Given the description of an element on the screen output the (x, y) to click on. 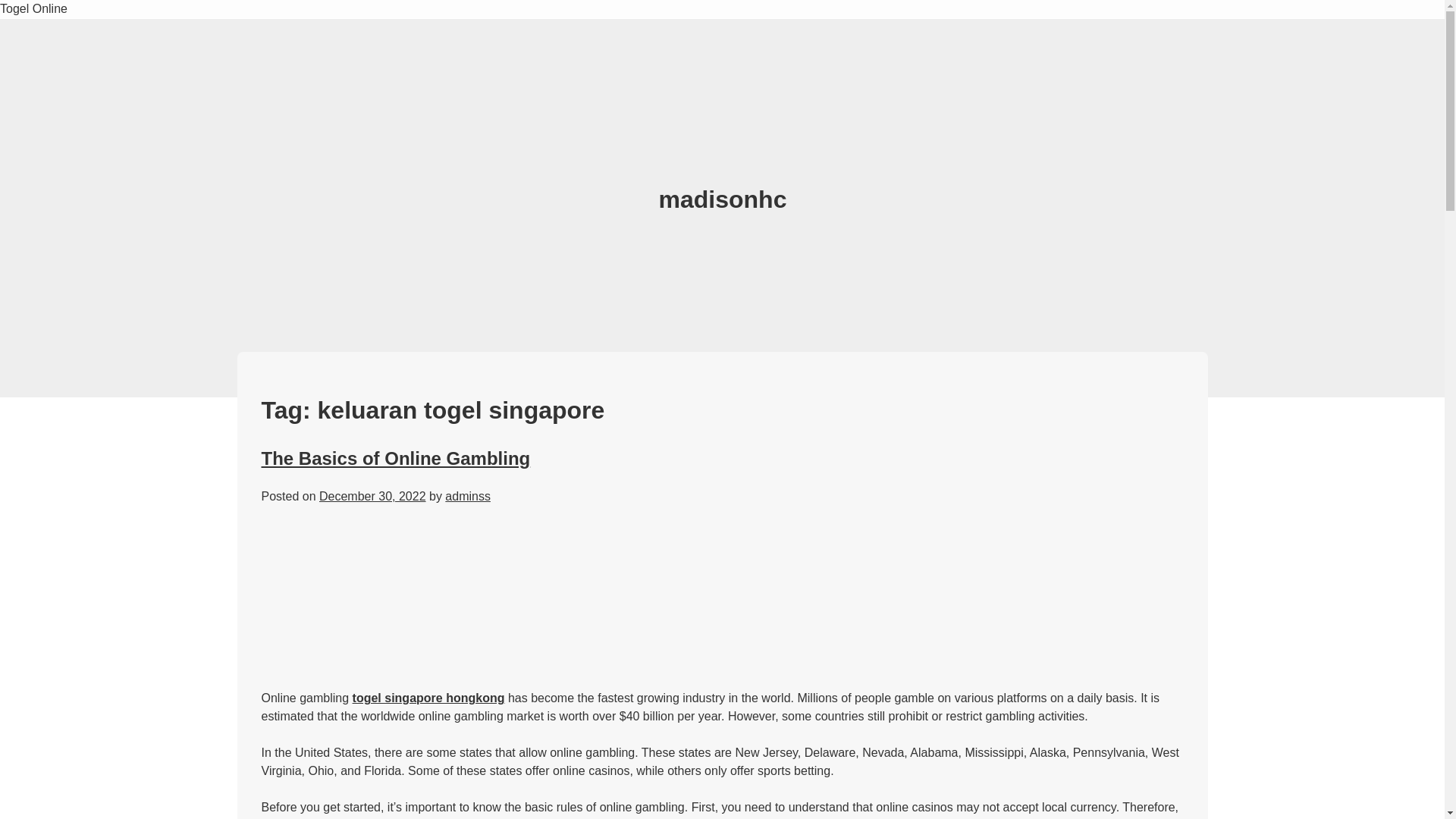
The Basics of Online Gambling (394, 457)
adminss (467, 495)
togel singapore hongkong (428, 697)
Togel Online (33, 9)
December 30, 2022 (372, 495)
